Given the description of an element on the screen output the (x, y) to click on. 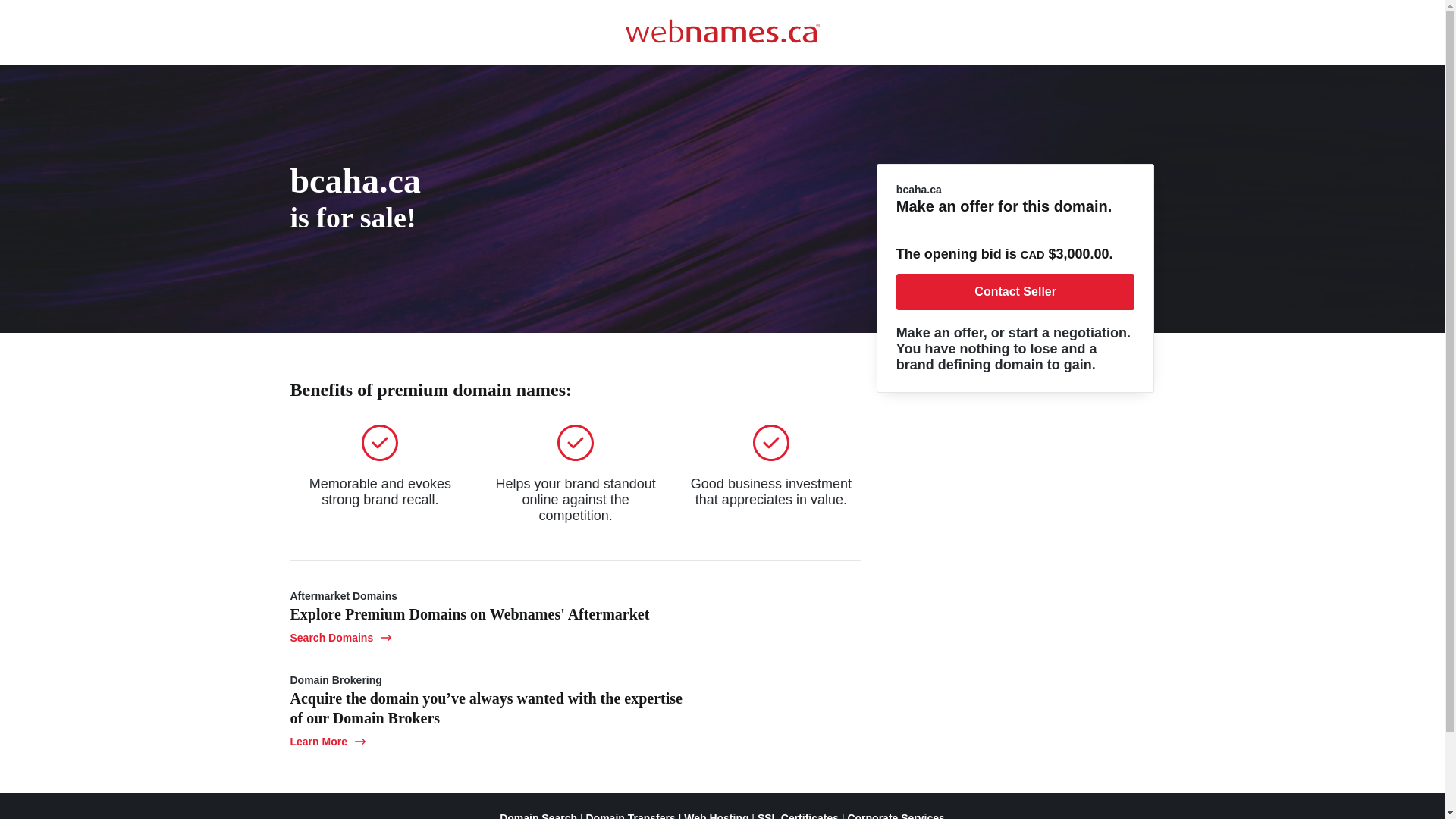
Search Domains Element type: text (340, 637)
Contact Seller Element type: text (1015, 291)
Learn More Element type: text (326, 741)
